Given the description of an element on the screen output the (x, y) to click on. 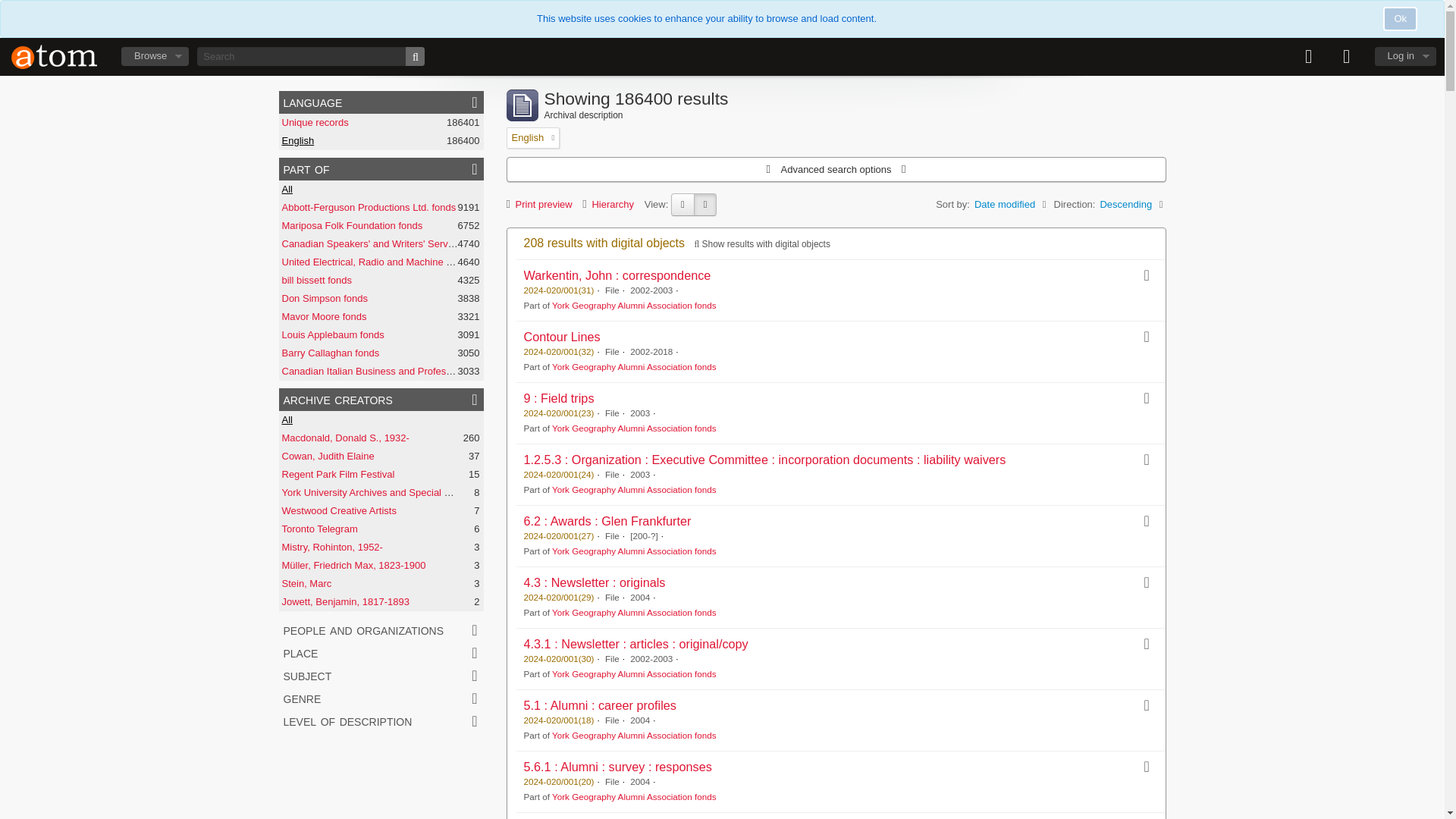
Unique records (315, 122)
Log in (1404, 56)
Abbott-Ferguson Productions Ltd. fonds (369, 206)
Cowan, Judith Elaine (328, 455)
bill bissett fonds (317, 279)
Don Simpson fonds (325, 297)
part of (381, 169)
Unique records (315, 122)
English (298, 140)
Louis Applebaum fonds (333, 334)
All (287, 188)
Macdonald, Donald S., 1932- (345, 437)
Barry Callaghan fonds (331, 352)
York University Archives and Special Collections (387, 491)
